Given the description of an element on the screen output the (x, y) to click on. 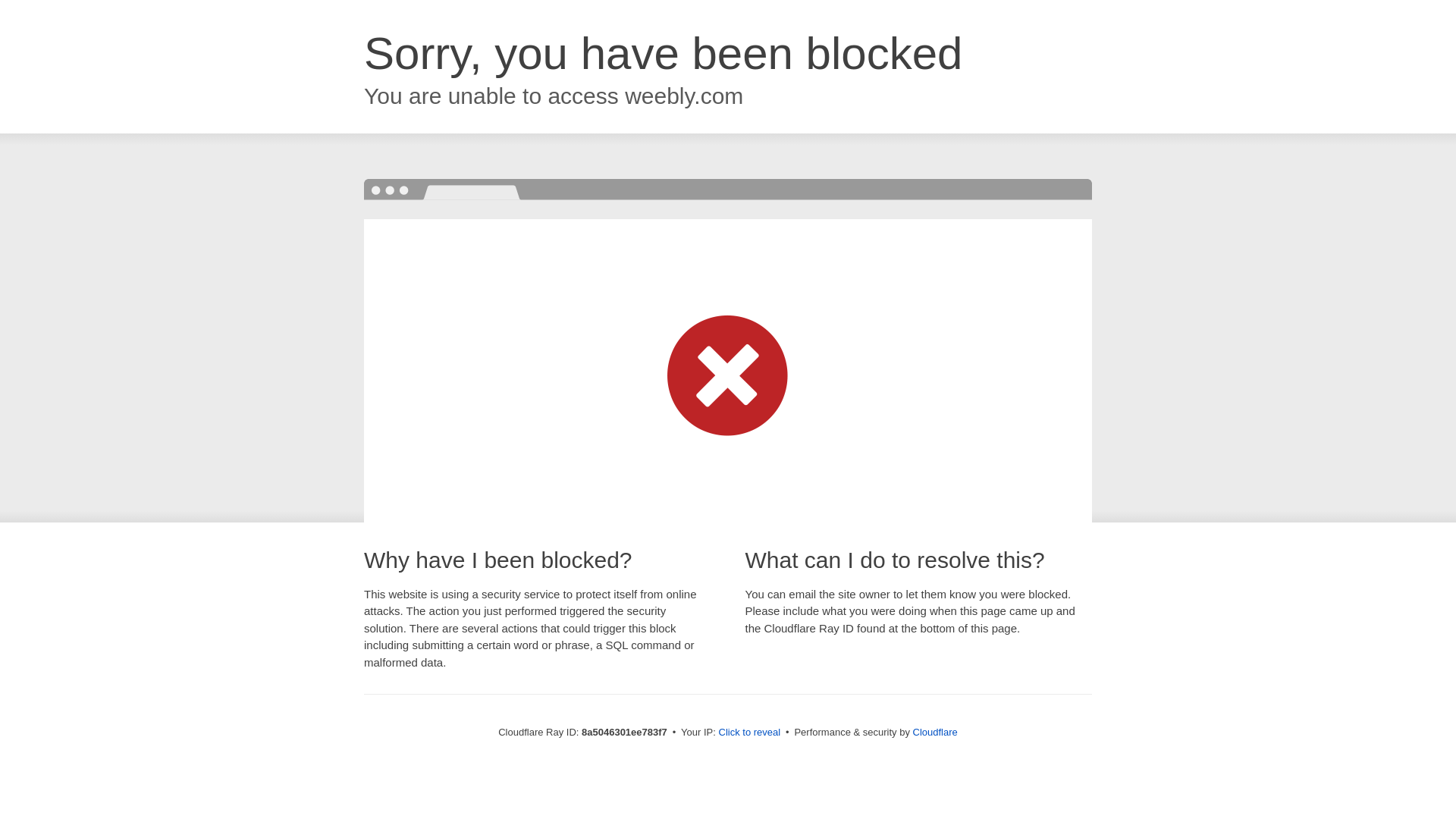
Cloudflare (935, 731)
Click to reveal (749, 732)
